Given the description of an element on the screen output the (x, y) to click on. 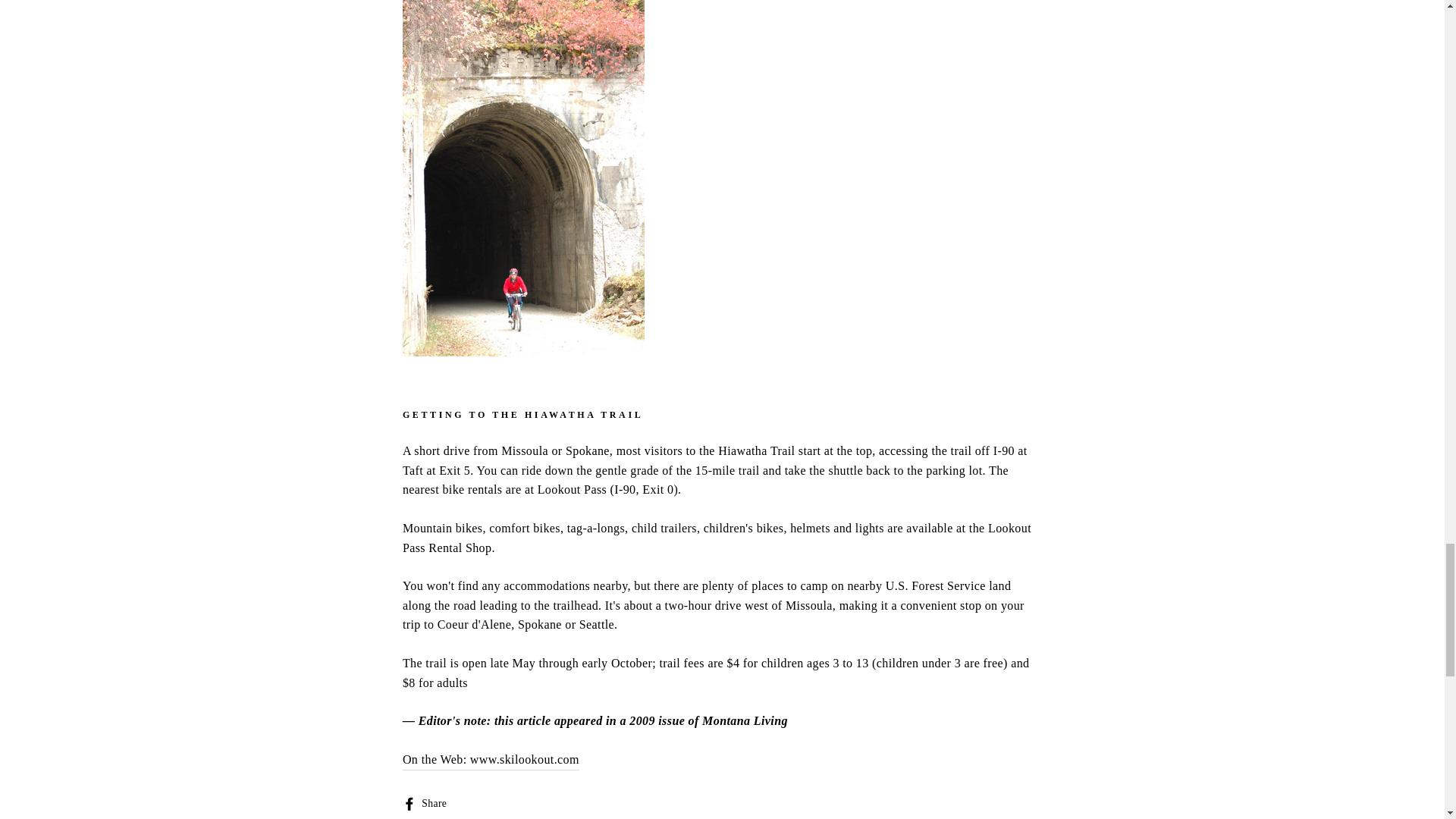
On the Web: www.skilookout.com (491, 760)
ski lookout (491, 760)
Share on Facebook (430, 803)
